Given the description of an element on the screen output the (x, y) to click on. 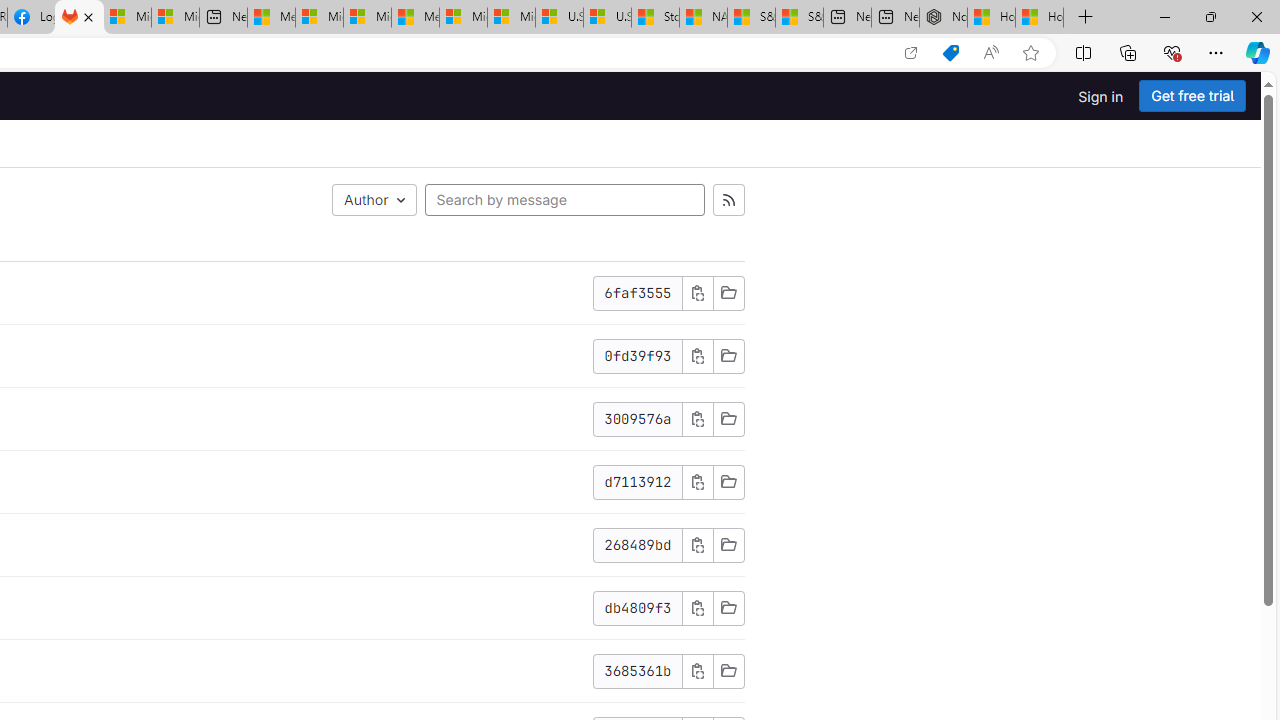
Class: s16 gl-icon gl-button-icon  (697, 670)
Shopping in Microsoft Edge (950, 53)
Open in app (910, 53)
Microsoft account | Home (367, 17)
